Given the description of an element on the screen output the (x, y) to click on. 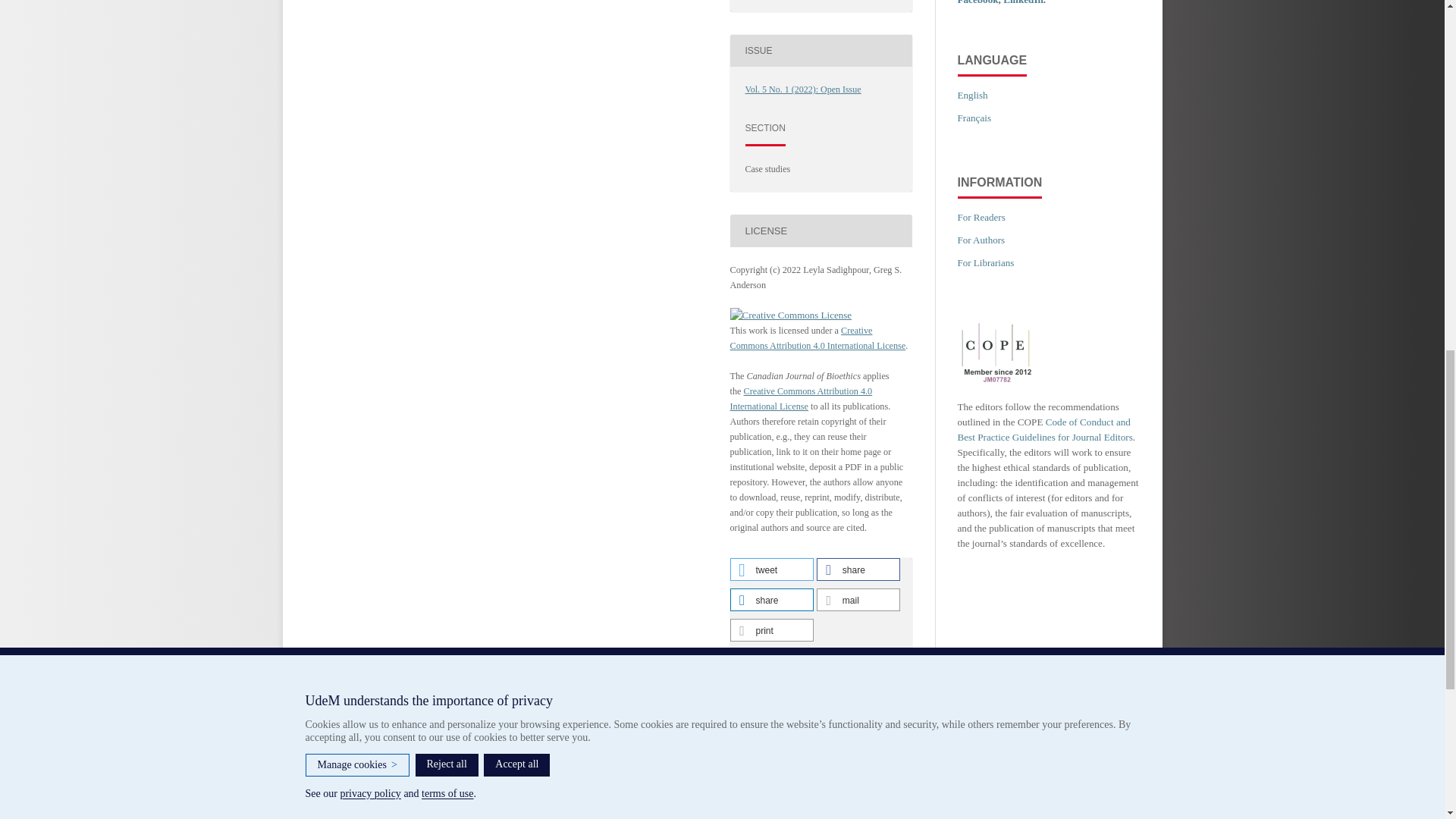
print (770, 630)
Send by email (857, 599)
Share on LinkedIn (770, 599)
Share on Facebook (857, 568)
Share on Twitter (770, 568)
